Given the description of an element on the screen output the (x, y) to click on. 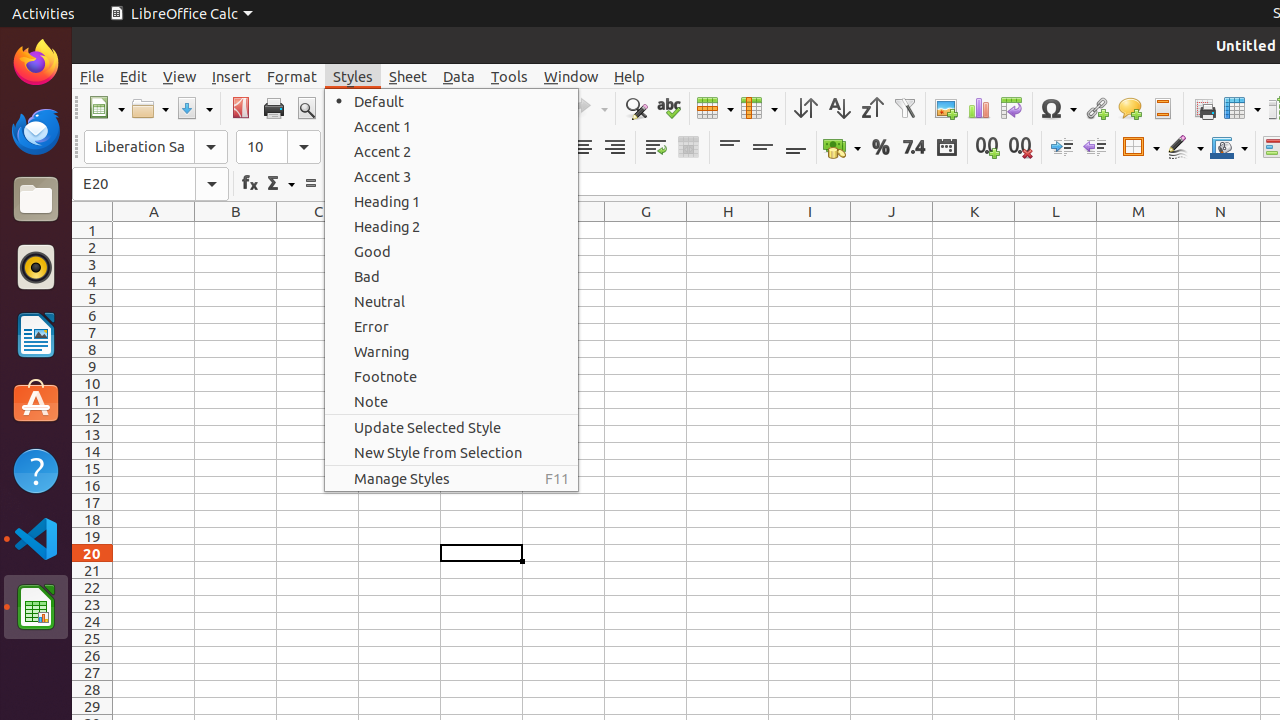
Number Element type: push-button (913, 147)
Error Element type: radio-menu-item (451, 326)
New Element type: push-button (106, 108)
Footnote Element type: radio-menu-item (451, 376)
Decrease Element type: push-button (1094, 147)
